Given the description of an element on the screen output the (x, y) to click on. 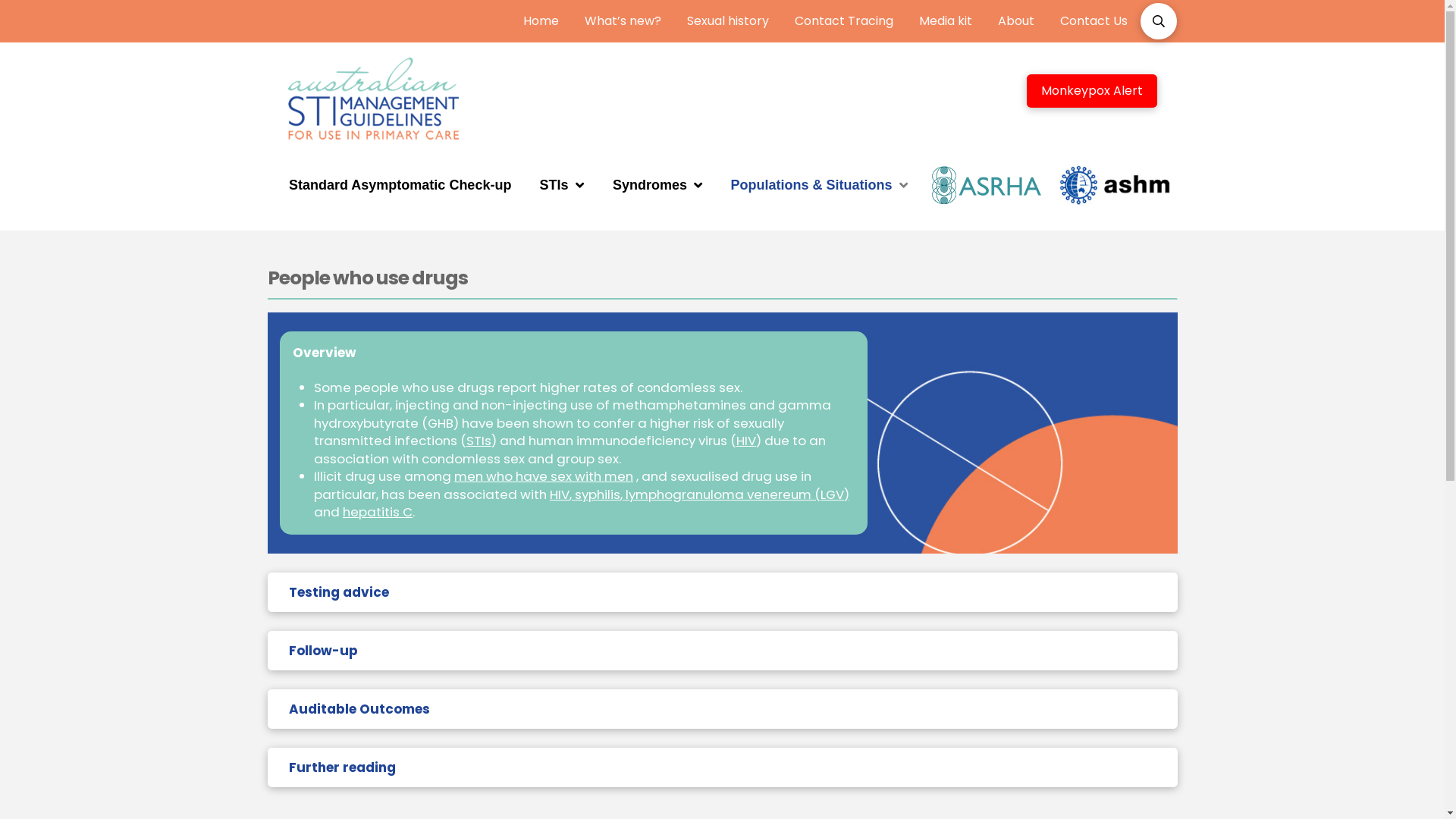
Monkeypox Alert Element type: text (1091, 90)
HIV Element type: text (559, 494)
Sexual history Element type: text (727, 21)
HIV Element type: text (746, 440)
Syndromes Element type: text (657, 184)
STIs Element type: text (561, 184)
hepatitis C Element type: text (377, 511)
Home Element type: text (540, 21)
Follow-up Element type: text (721, 650)
Populations & Situations Element type: text (819, 184)
STI Element type: text (475, 440)
About Element type: text (1015, 21)
Standard Asymptomatic Check-up Element type: text (399, 184)
Testing advice Element type: text (721, 591)
lymphogranuloma venereum (LGV) Element type: text (737, 494)
Auditable Outcomes Element type: text (721, 708)
syphilis Element type: text (597, 494)
men who have sex with men Element type: text (543, 476)
Contact Tracing Element type: text (843, 21)
Contact Us Element type: text (1092, 21)
Media kit Element type: text (944, 21)
Further reading Element type: text (721, 767)
